Given the description of an element on the screen output the (x, y) to click on. 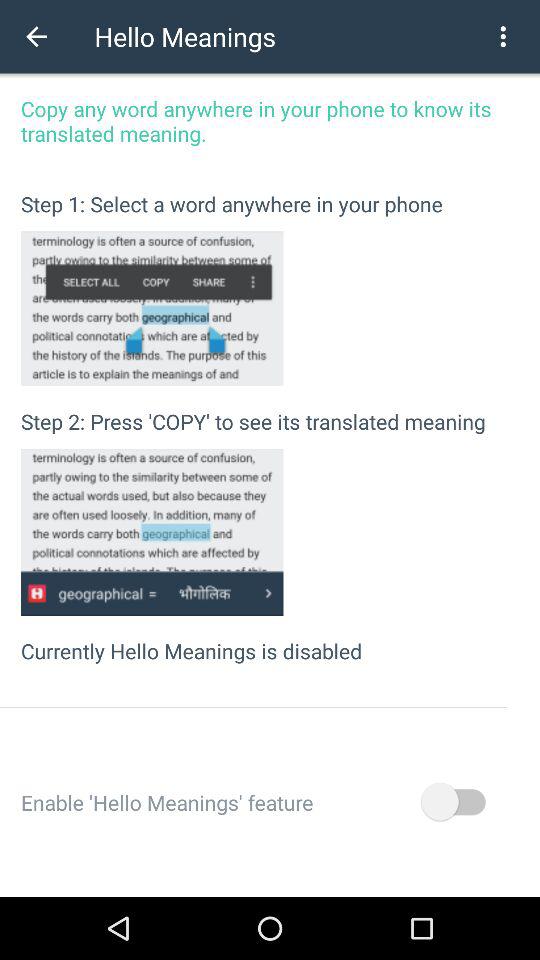
open menu (503, 36)
